Given the description of an element on the screen output the (x, y) to click on. 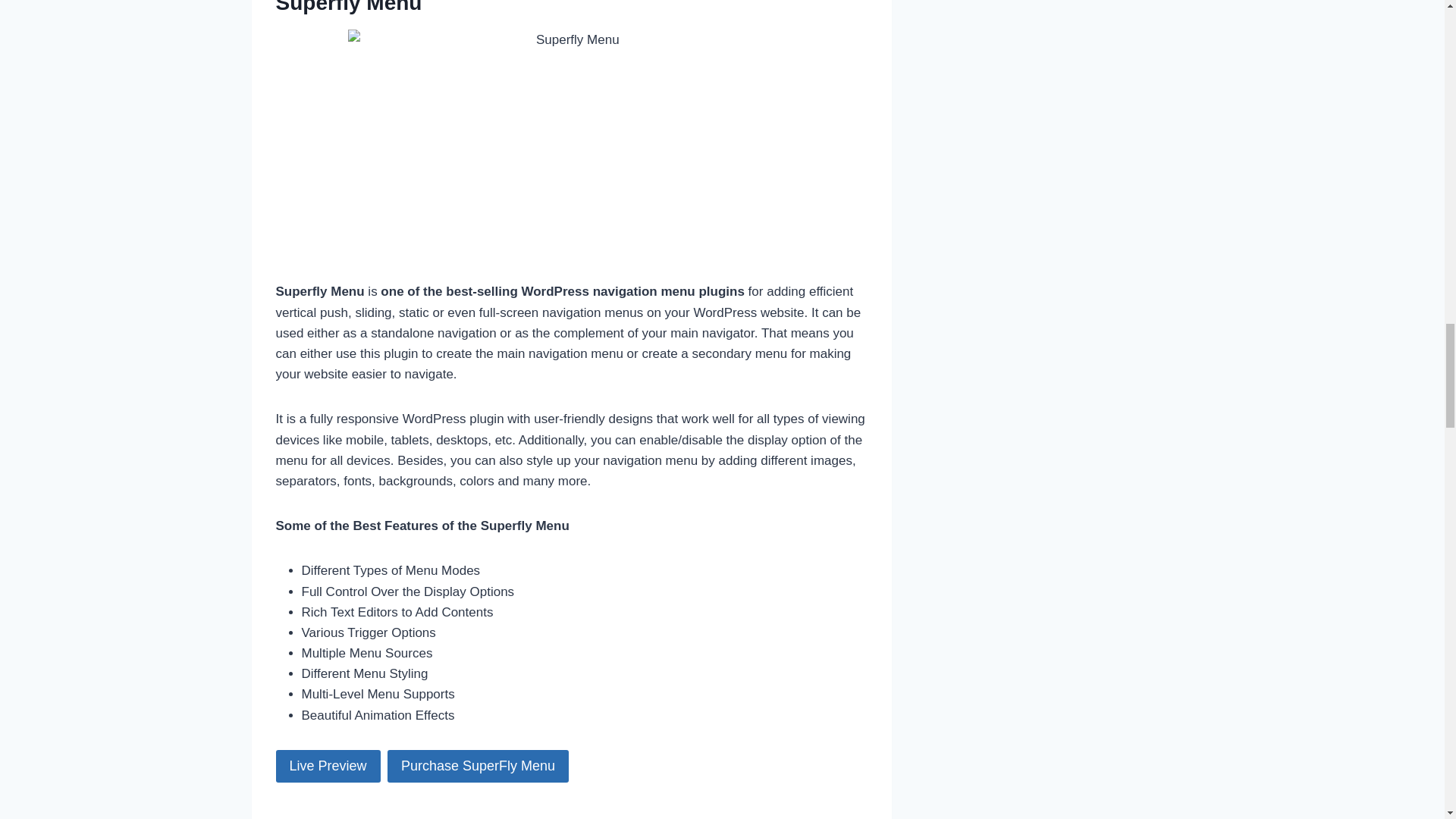
Superfly Menu (349, 7)
Live Preview (328, 766)
Purchase SuperFly Menu (478, 766)
